Given the description of an element on the screen output the (x, y) to click on. 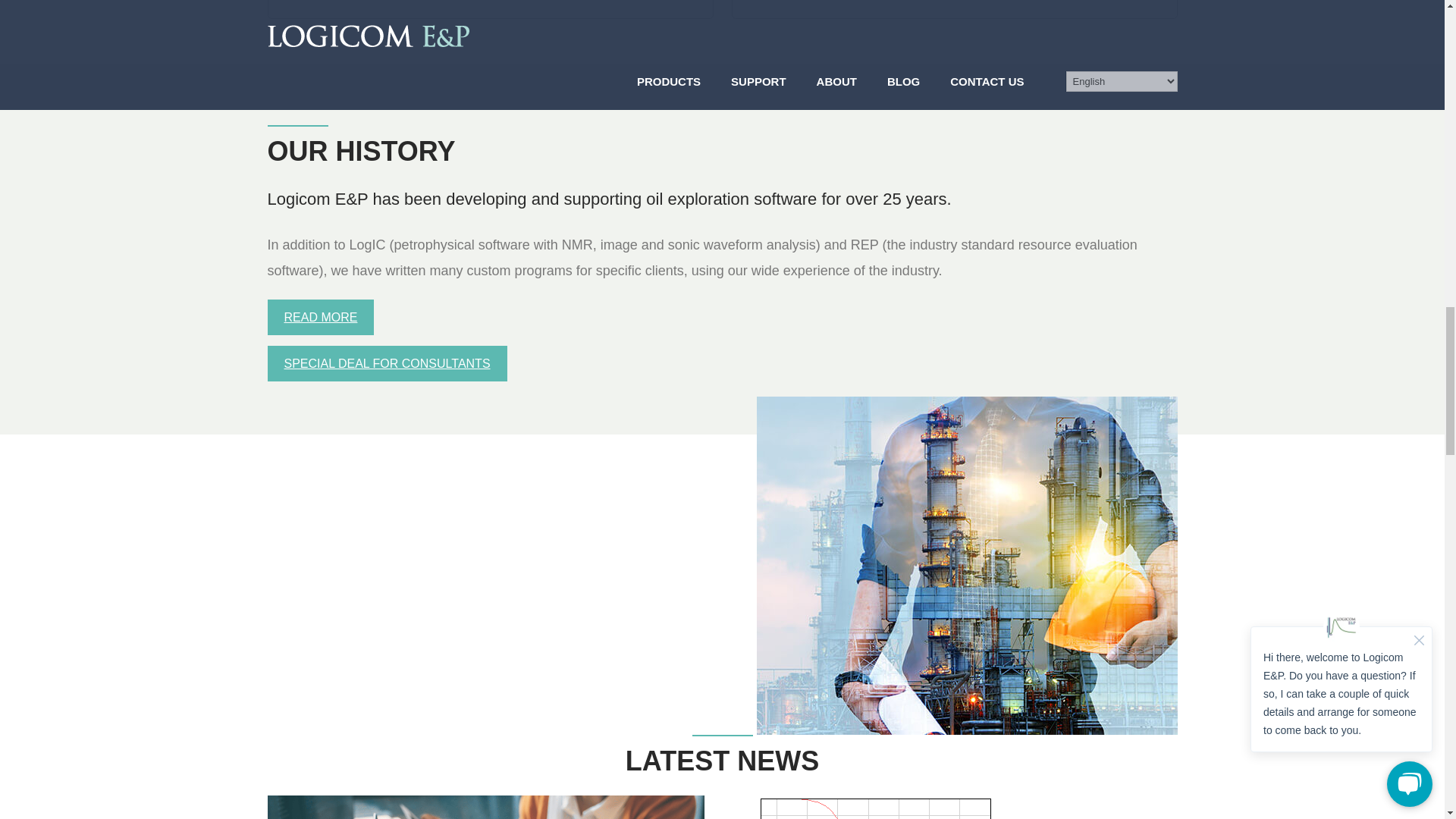
SPECIAL DEAL FOR CONSULTANTS (386, 363)
READ MORE (320, 316)
